Given the description of an element on the screen output the (x, y) to click on. 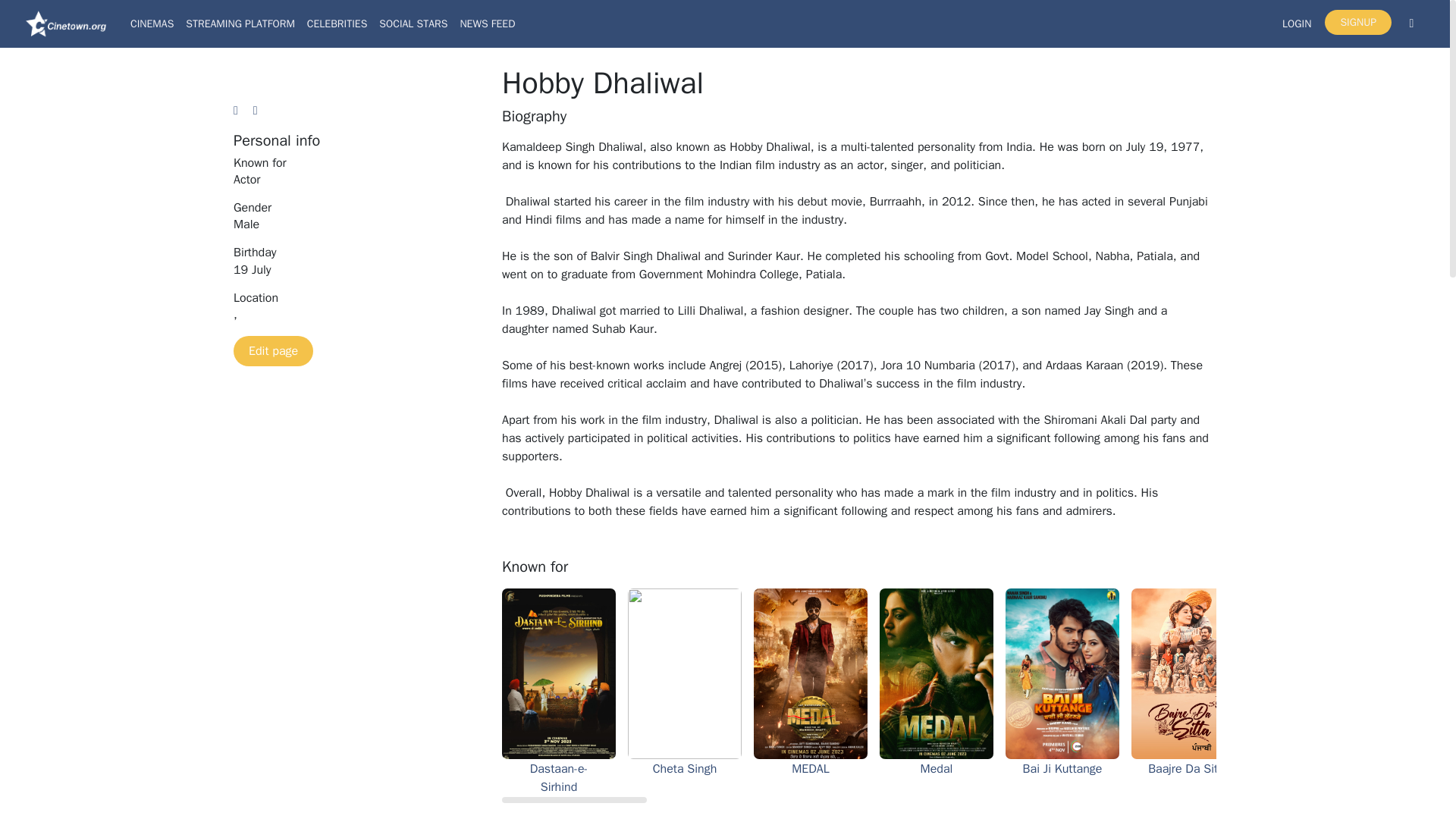
STREAMING PLATFORM (240, 23)
CELEBRITIES (336, 23)
CINEMAS (151, 23)
SOCIAL STARS (412, 23)
Edit page (272, 350)
SIGNUP (1357, 22)
LOGIN (1296, 23)
NEWS FEED (486, 23)
